Given the description of an element on the screen output the (x, y) to click on. 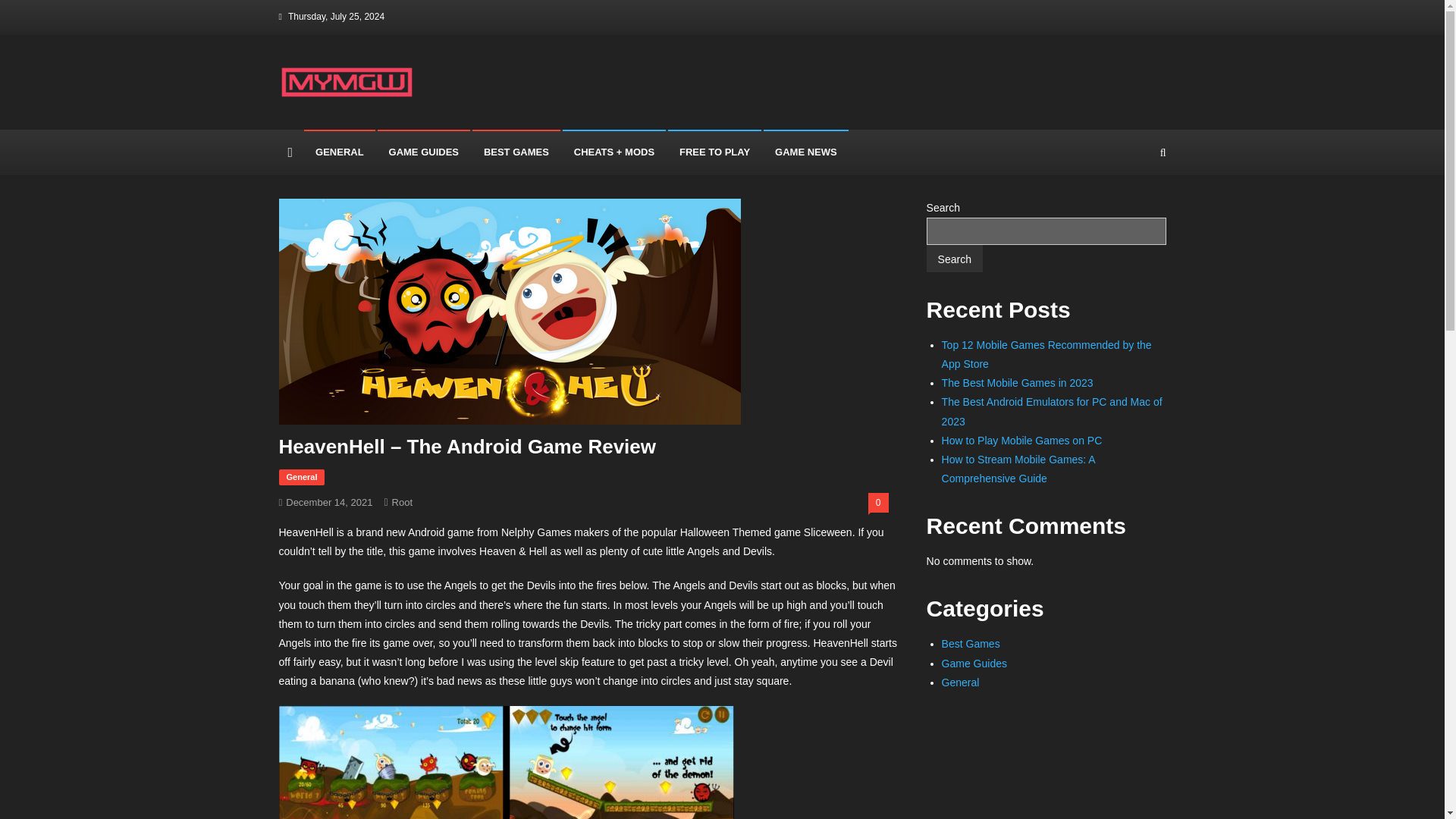
GENERAL (339, 152)
My mobile games world (416, 113)
The Best Android Emulators for PC and Mac of 2023 (1051, 410)
FREE TO PLAY (714, 152)
Top 12 Mobile Games Recommended by the App Store (1046, 354)
December 14, 2021 (328, 501)
0 (877, 502)
GAME GUIDES (423, 152)
General (960, 682)
Skip to content (34, 9)
GAME NEWS (805, 152)
Search (1133, 215)
Root (401, 501)
Search (954, 257)
BEST GAMES (515, 152)
